Given the description of an element on the screen output the (x, y) to click on. 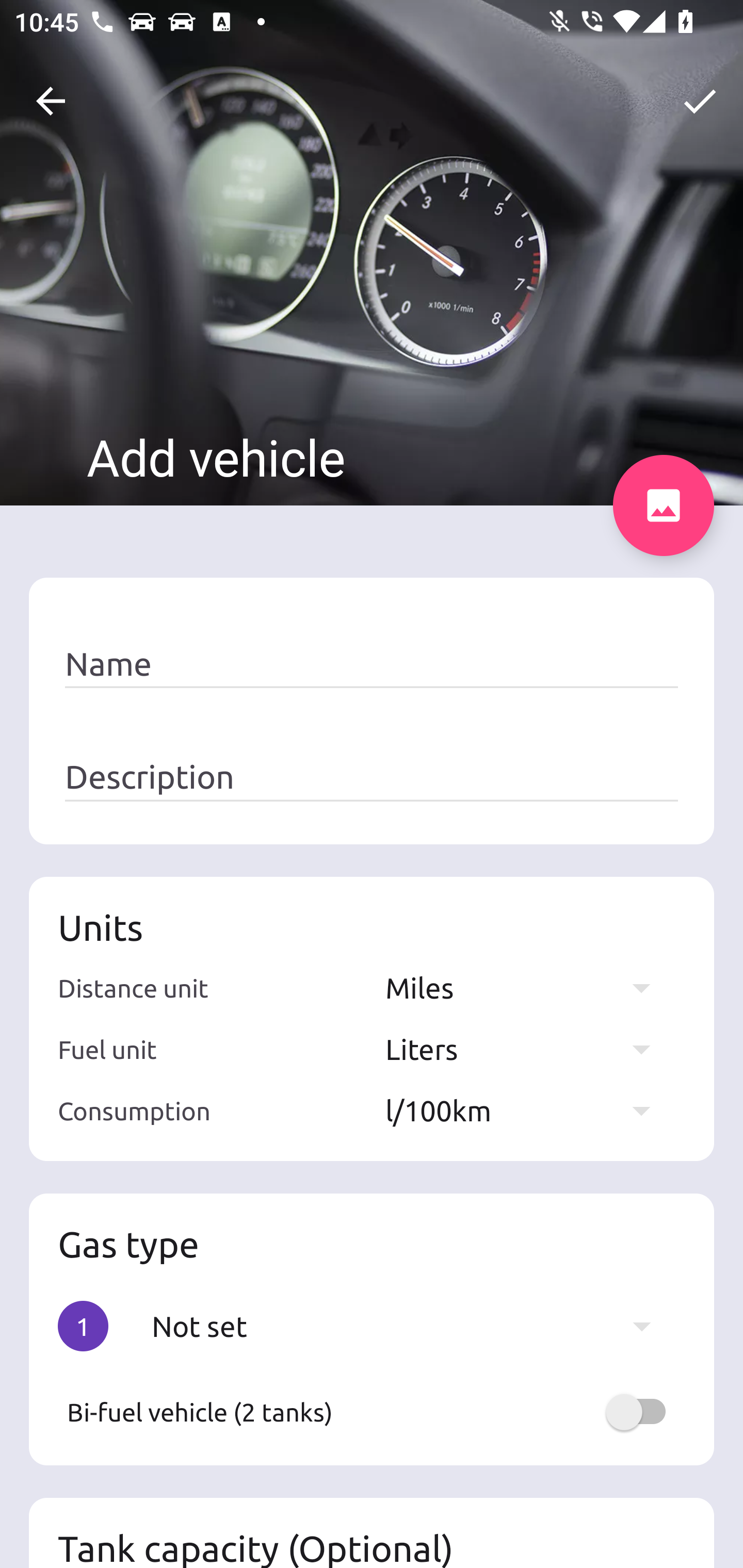
Navigate up (50, 101)
OK (699, 101)
Name (371, 664)
Description (371, 777)
Miles (527, 987)
Liters (527, 1048)
l/100km (527, 1110)
Not set (411, 1325)
Bi-fuel vehicle (2 tanks) (371, 1411)
